Given the description of an element on the screen output the (x, y) to click on. 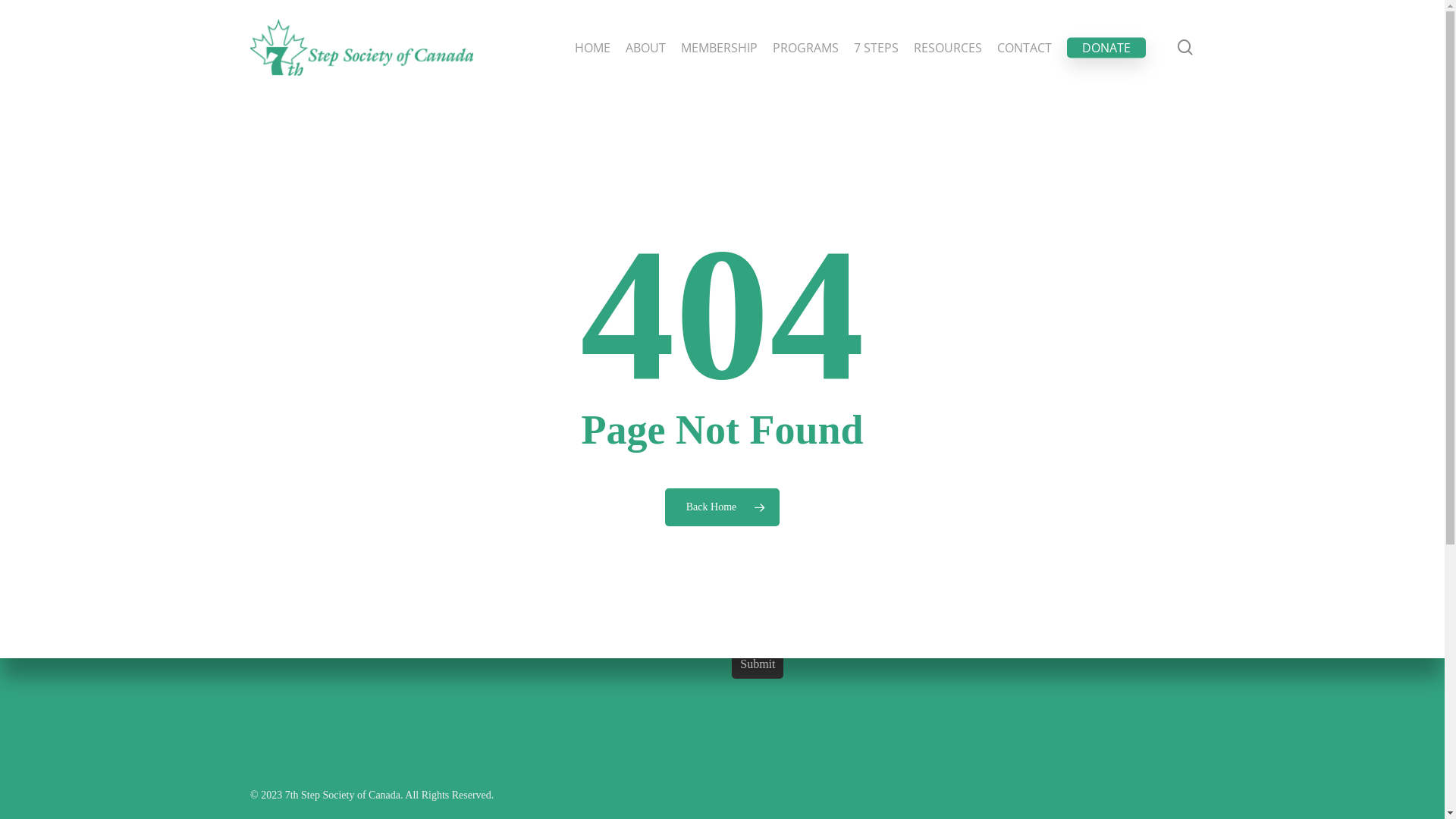
DONATE Element type: text (1105, 46)
seventh@7thstep.ca Element type: text (333, 537)
MEMBERSHIP Element type: text (718, 46)
ABOUT Element type: text (645, 46)
search Element type: text (1185, 47)
RESOURCES Element type: text (947, 46)
HOME Element type: text (592, 46)
Back Home Element type: text (722, 507)
CONTACT Element type: text (1024, 46)
7 STEPS Element type: text (875, 46)
Submit Element type: text (757, 664)
PROGRAMS Element type: text (805, 46)
